Given the description of an element on the screen output the (x, y) to click on. 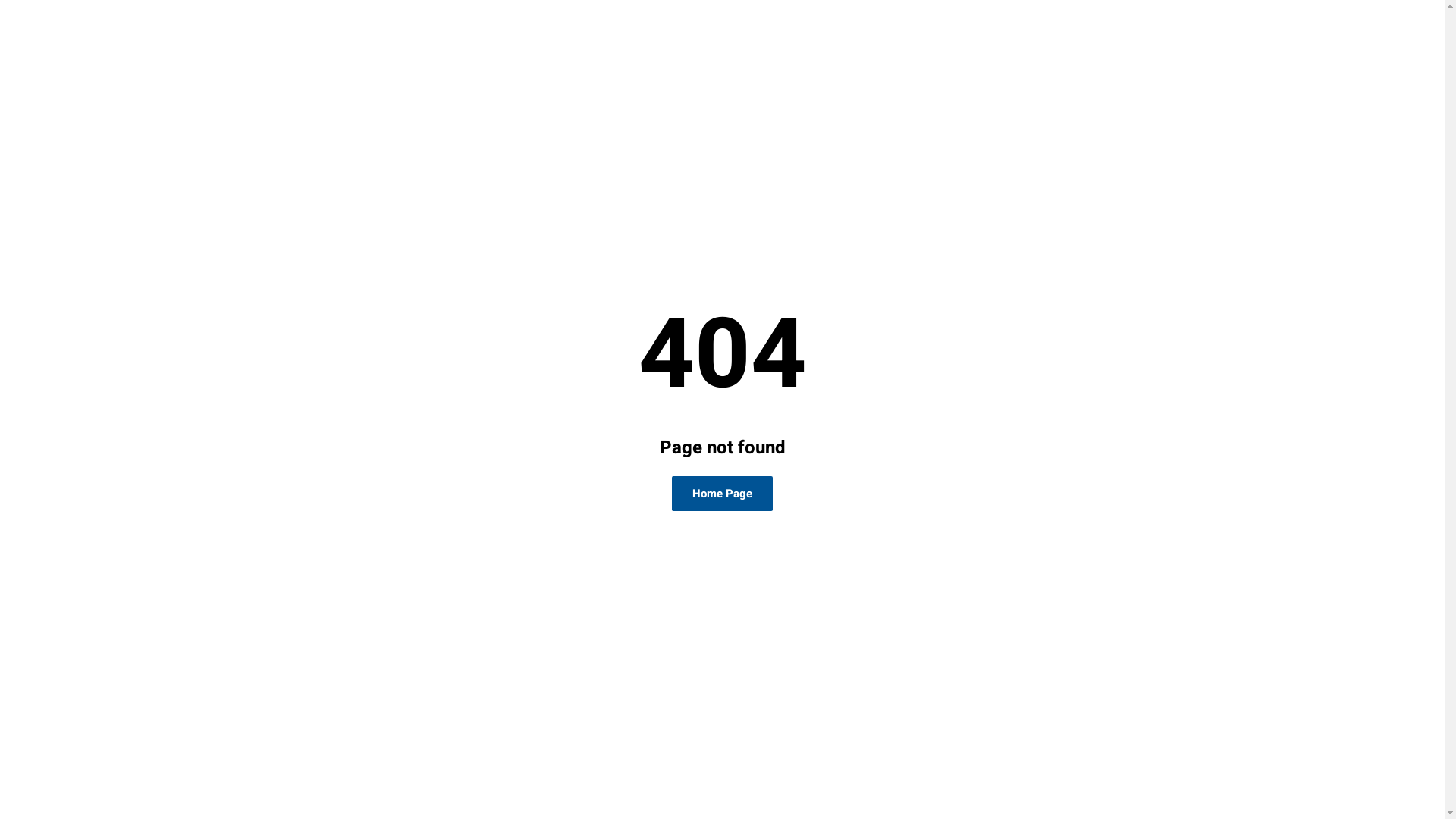
Home Page Element type: text (721, 493)
